Given the description of an element on the screen output the (x, y) to click on. 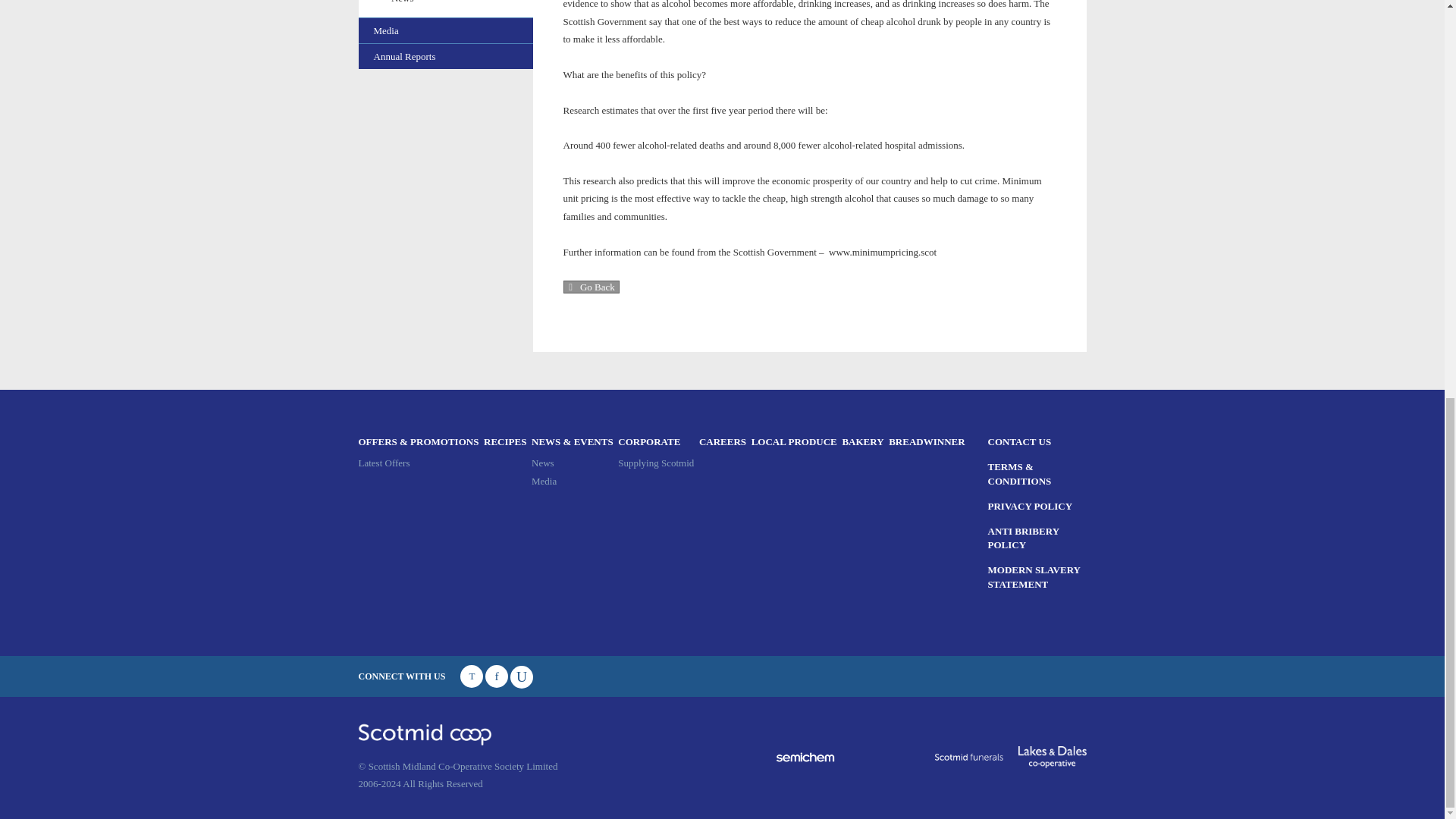
Subscribe to us on YouTube (521, 675)
Scotmid Corporate Website (655, 441)
Follow us on Twitter (471, 675)
Visit the Scotmid Food website (884, 757)
Like us on Facebook (496, 675)
Visit the Semichem website (804, 757)
Go Back (590, 286)
View all posts in News (454, 2)
Visit the Scotmid Co-operative Funeral Directors website (968, 757)
